Given the description of an element on the screen output the (x, y) to click on. 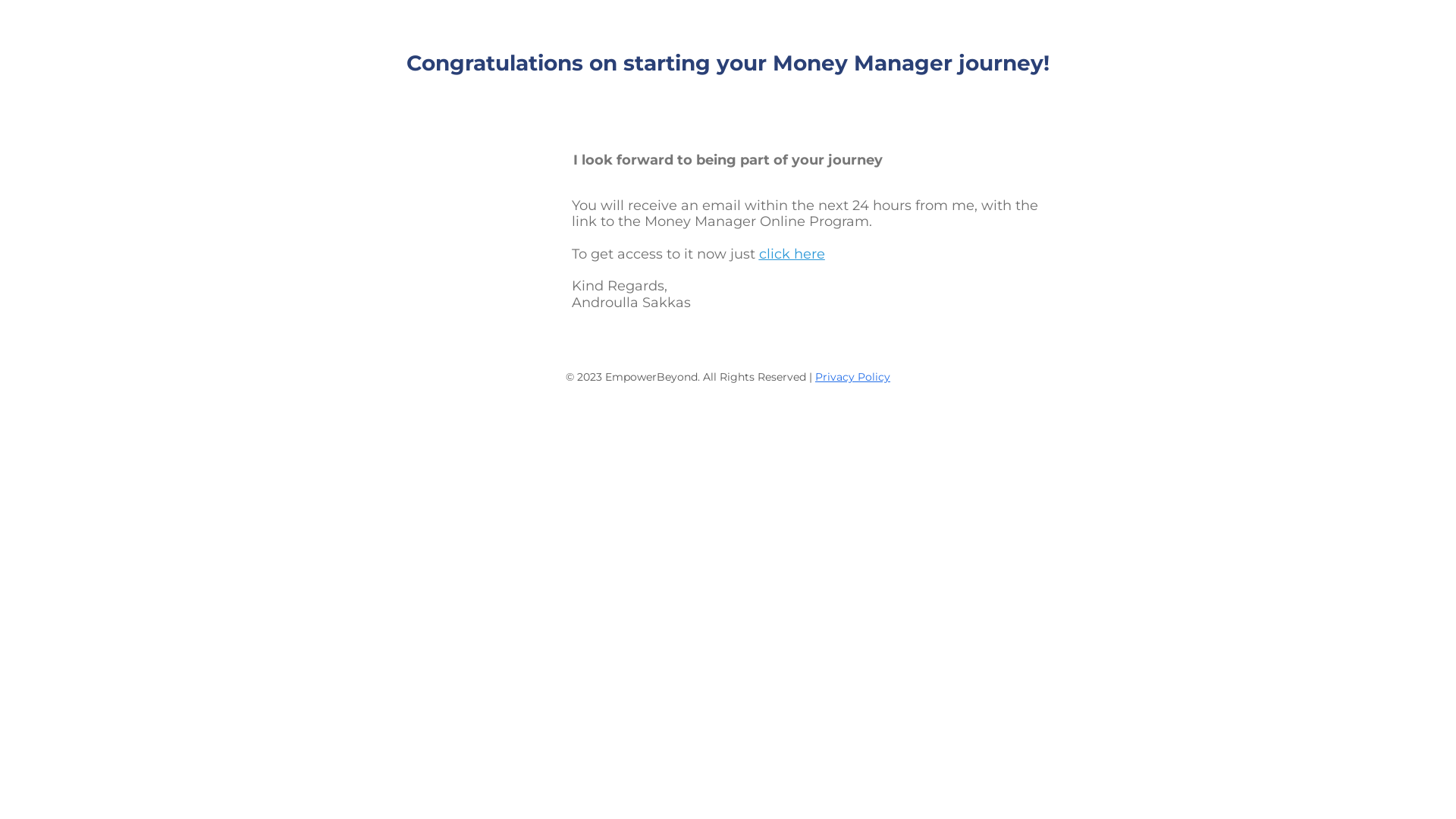
click here Element type: text (792, 253)
Privacy Policy Element type: text (852, 376)
